Given the description of an element on the screen output the (x, y) to click on. 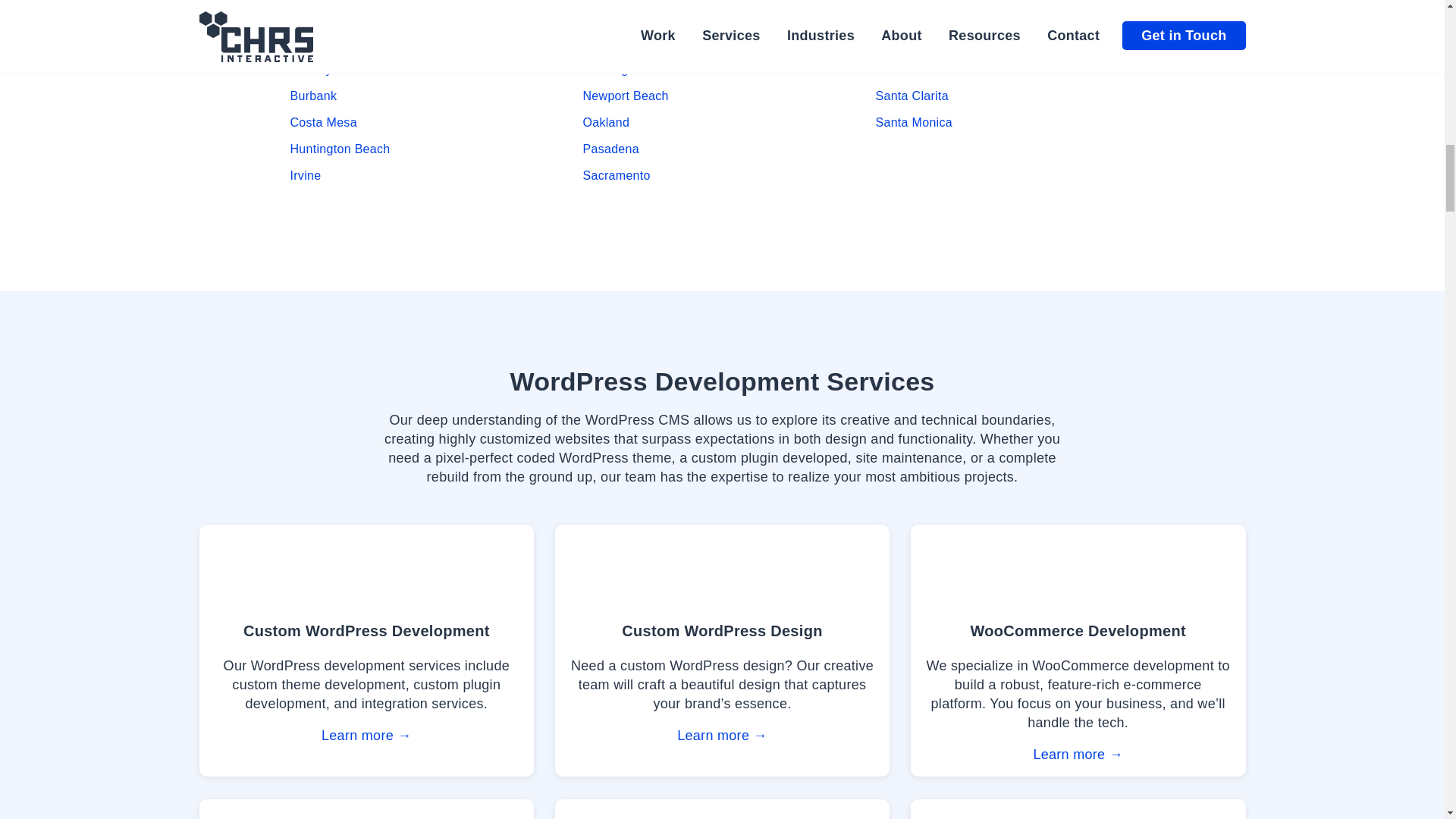
Burbank (312, 95)
Read more about WooCommerce Development (1078, 650)
Read more about Custom WordPress Design (721, 650)
Costa Mesa (322, 122)
Anaheim (314, 42)
Read more about Custom WordPress Themes (366, 809)
Agoura Hills (323, 15)
Huntington Beach (339, 148)
Read more about Custom WordPress Development (366, 650)
Beverly Hills (324, 69)
